Given the description of an element on the screen output the (x, y) to click on. 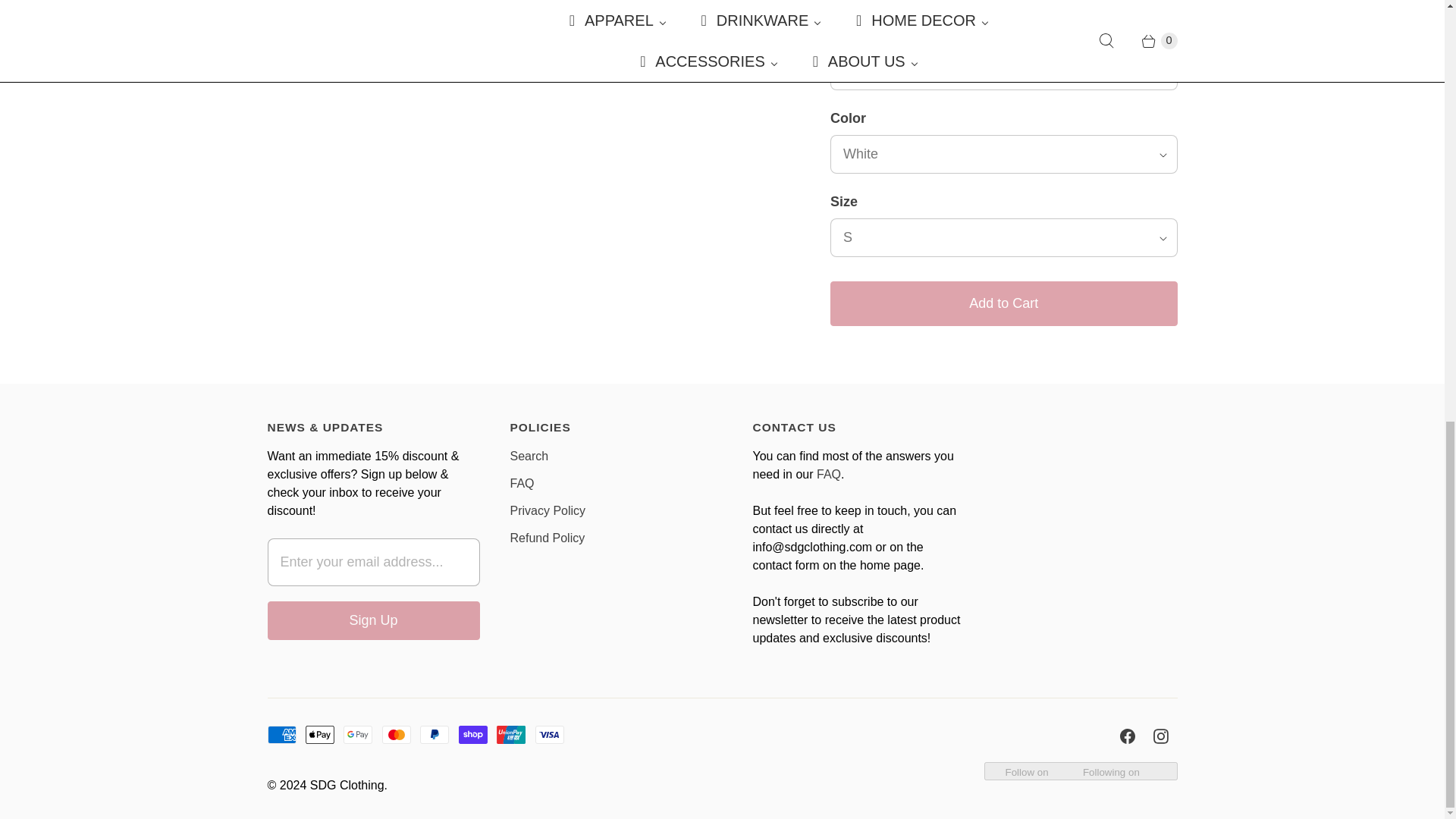
PayPal (434, 734)
Google Pay (357, 734)
Shop Pay (472, 734)
Mastercard (395, 734)
Apple Pay (319, 734)
Sign Up (372, 620)
American Express (280, 734)
Union Pay (510, 734)
Visa (549, 734)
